Given the description of an element on the screen output the (x, y) to click on. 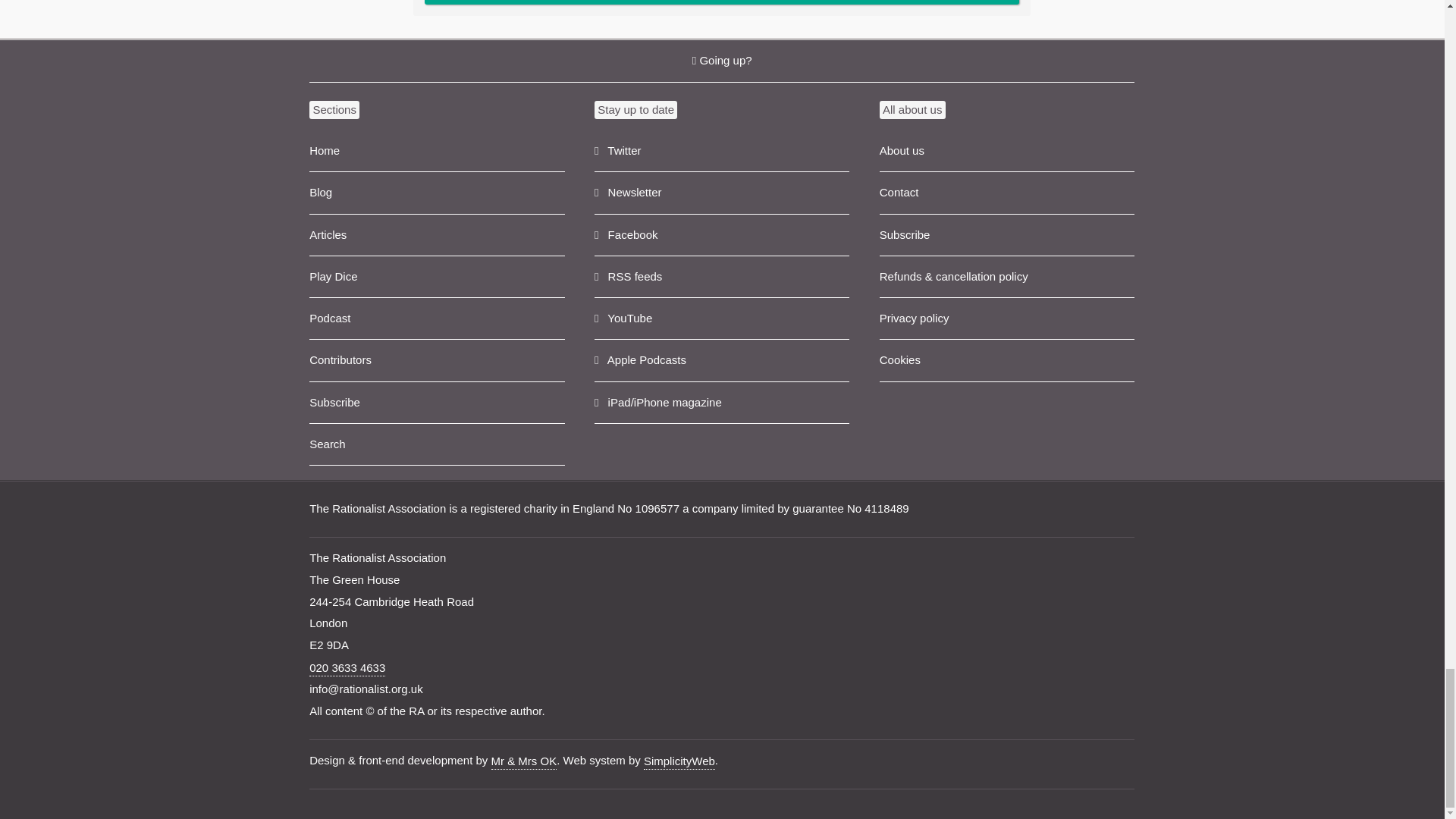
Search (436, 445)
Play Dice (436, 277)
Blog (436, 192)
Facebook (721, 235)
Subscribe (436, 403)
Newsletter (721, 192)
Contact (1006, 192)
Home (436, 150)
RSS feeds (721, 277)
About us (1006, 150)
Articles (436, 235)
YouTube (721, 318)
Apple Podcasts (721, 360)
Podcast (436, 318)
